Given the description of an element on the screen output the (x, y) to click on. 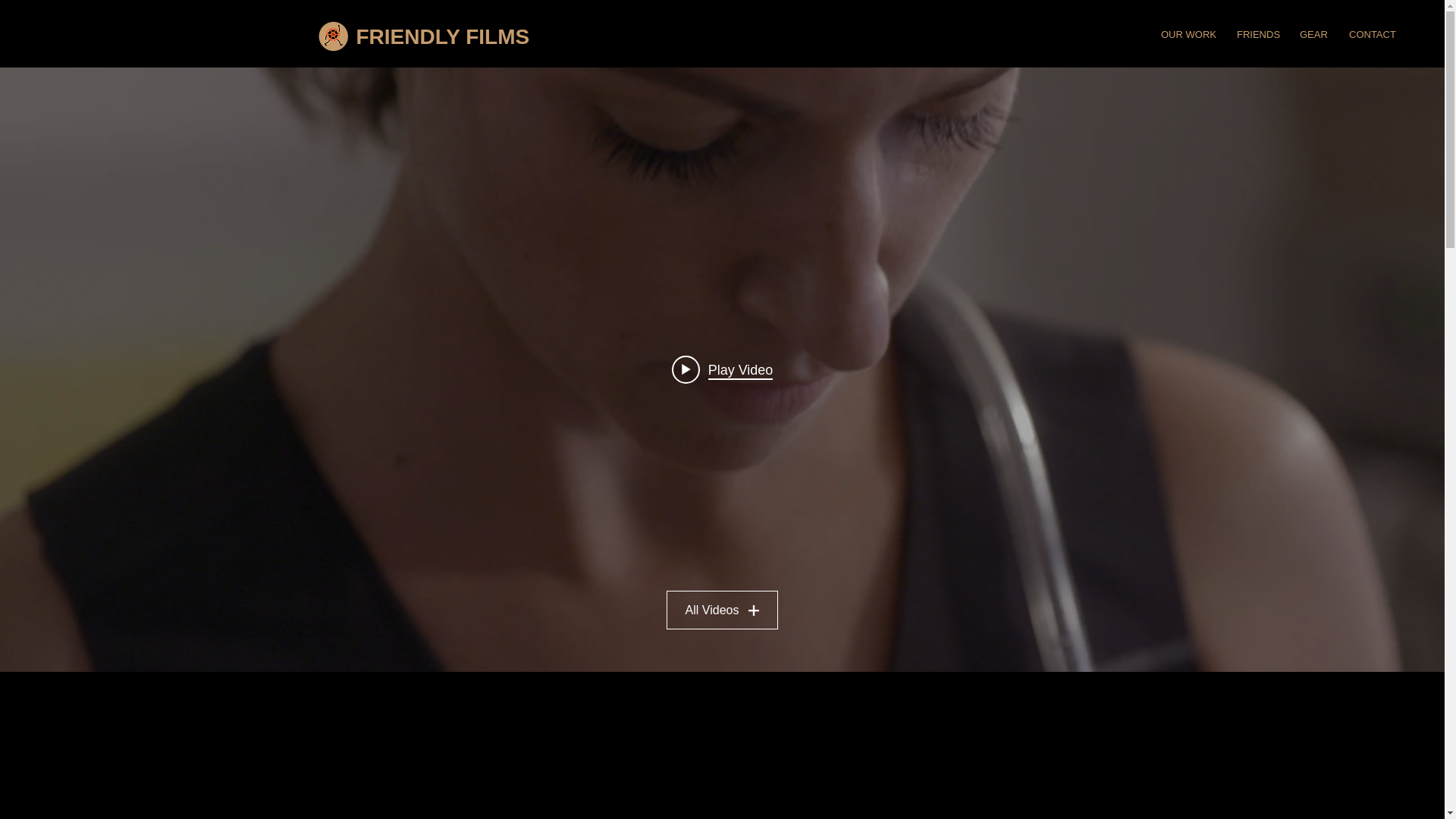
OUR WORK (1187, 34)
Play Video (722, 369)
FRIENDLY FILMS (445, 36)
GEAR (1313, 34)
FRIENDS (1256, 34)
All Videos (722, 609)
CONTACT (1372, 34)
